Given the description of an element on the screen output the (x, y) to click on. 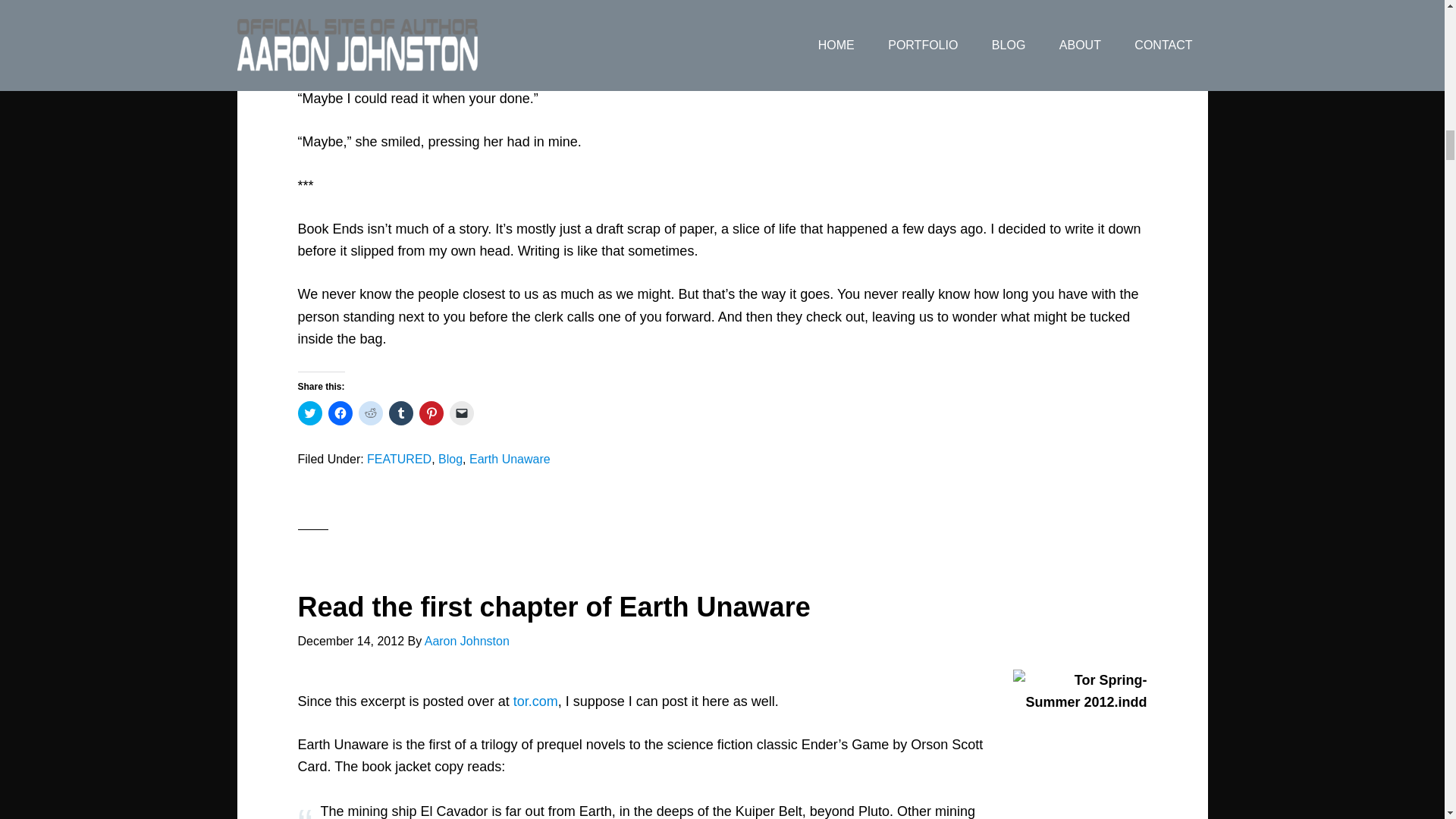
Click to email a link to a friend (460, 413)
Aaron Johnston (467, 640)
Earth Unaware (509, 459)
Read the first chapter of Earth Unaware (553, 606)
Click to share on Reddit (369, 413)
FEATURED (398, 459)
Click to share on Pinterest (430, 413)
tor.com (535, 701)
Click to share on Twitter (309, 413)
Click to share on Tumblr (400, 413)
